Given the description of an element on the screen output the (x, y) to click on. 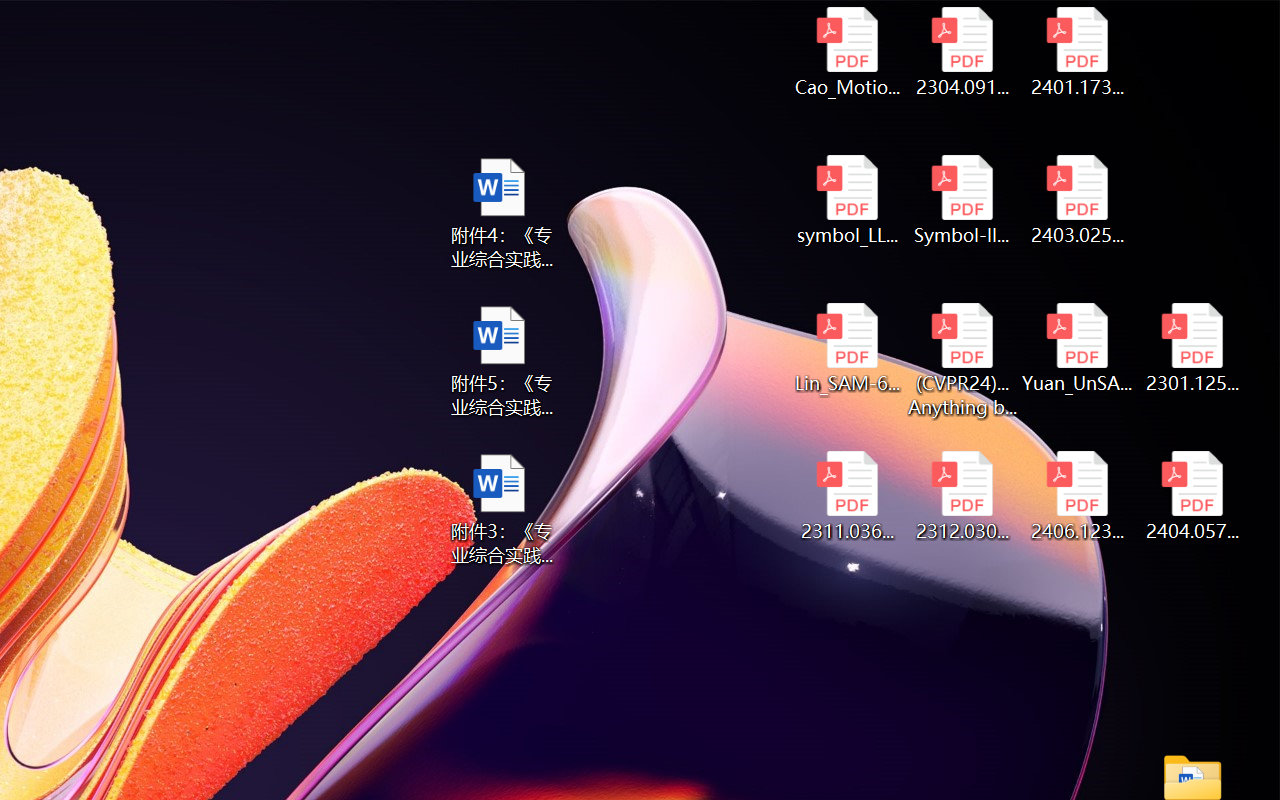
2312.03032v2.pdf (962, 496)
Symbol-llm-v2.pdf (962, 200)
